Given the description of an element on the screen output the (x, y) to click on. 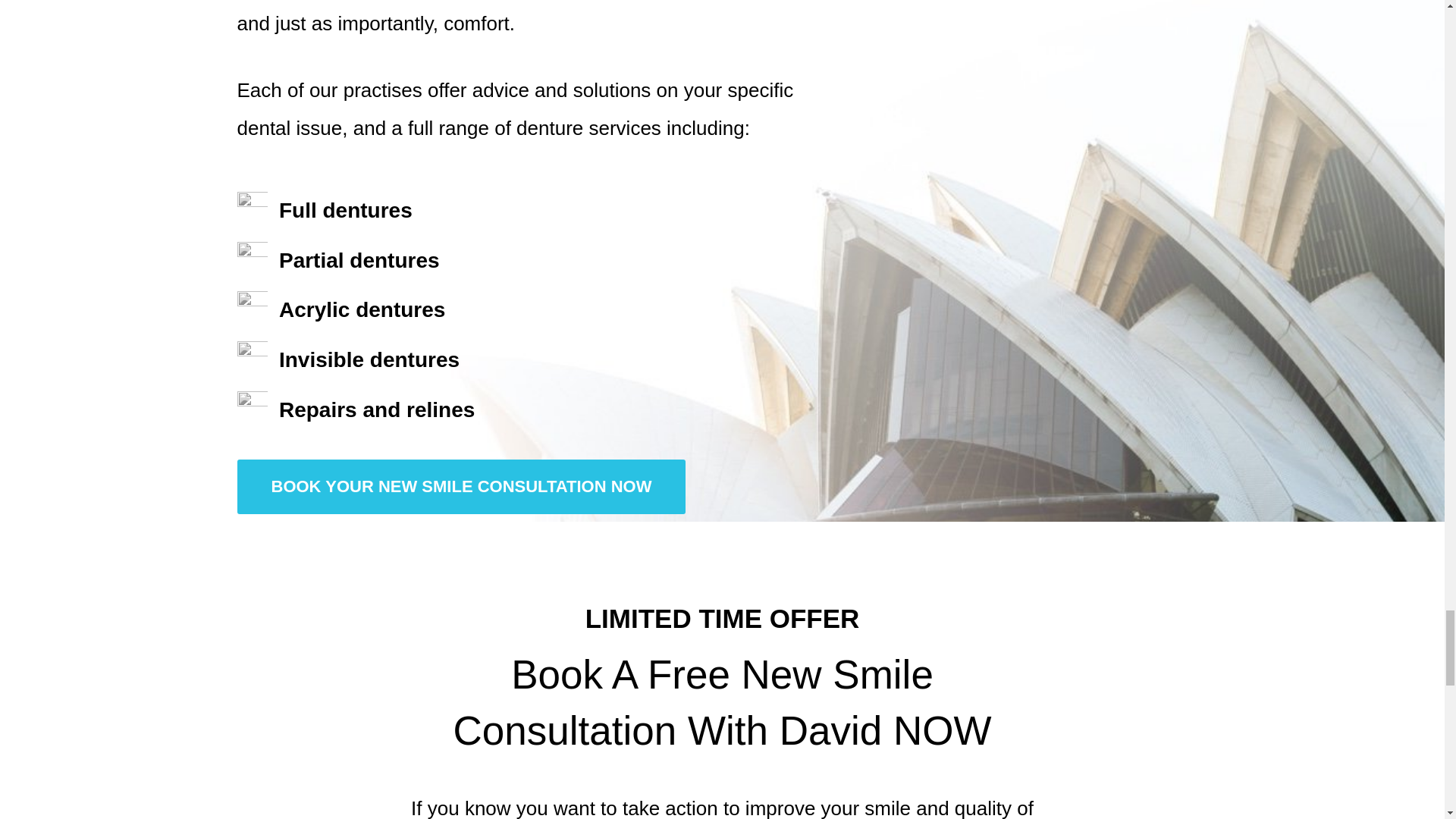
BOOK YOUR NEW SMILE CONSULTATION NOW (460, 486)
